Given the description of an element on the screen output the (x, y) to click on. 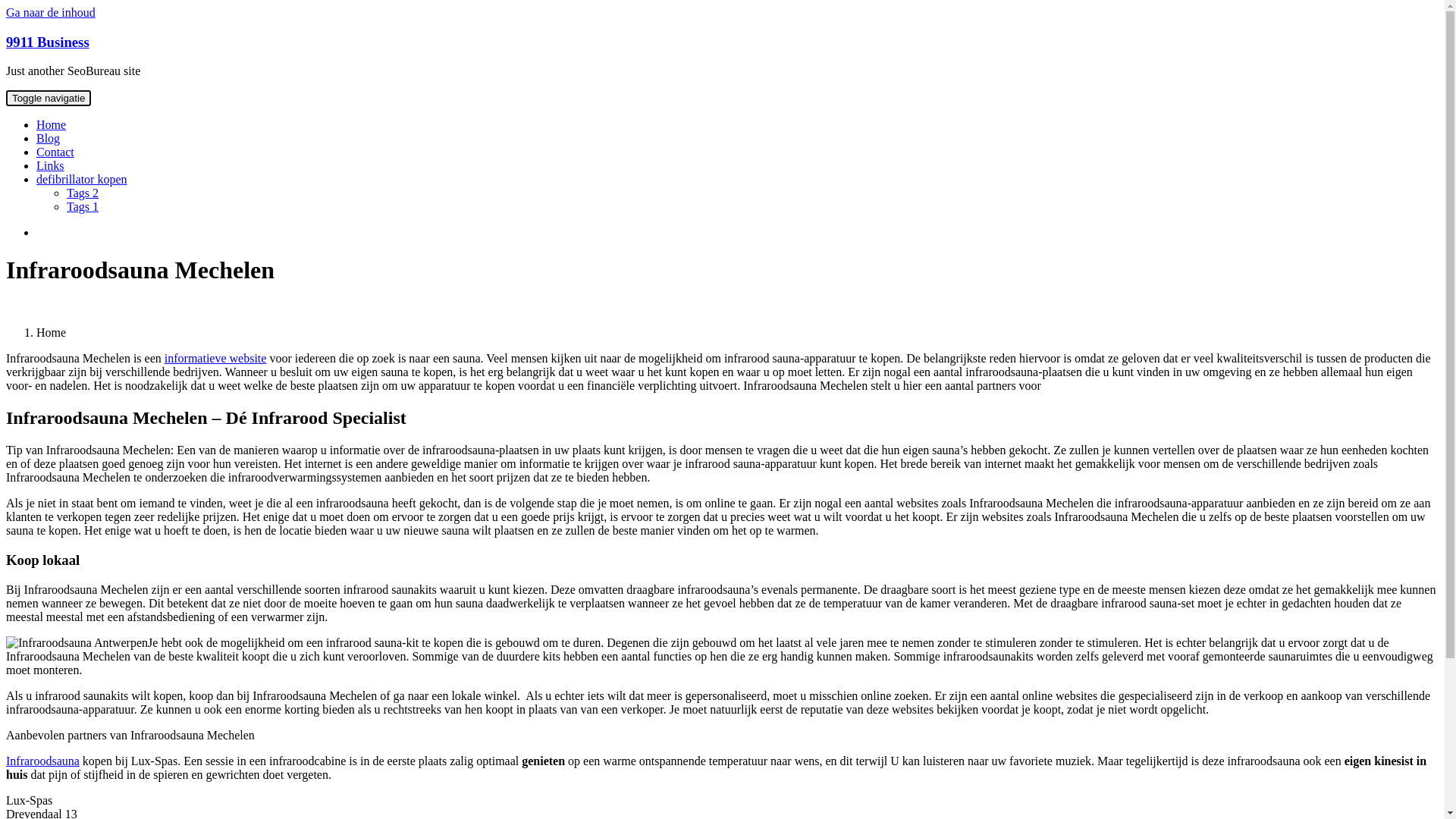
Tags 1 Element type: text (82, 206)
Ga naar de inhoud Element type: text (50, 12)
Contact Element type: text (55, 151)
Tags 2 Element type: text (82, 192)
informatieve website Element type: text (215, 357)
Blog Element type: text (47, 137)
Home Element type: text (50, 124)
Links Element type: text (49, 165)
Infraroodsauna Element type: text (42, 760)
defibrillator kopen Element type: text (81, 178)
Toggle navigatie Element type: text (48, 98)
9911 Business Element type: text (47, 42)
